Given the description of an element on the screen output the (x, y) to click on. 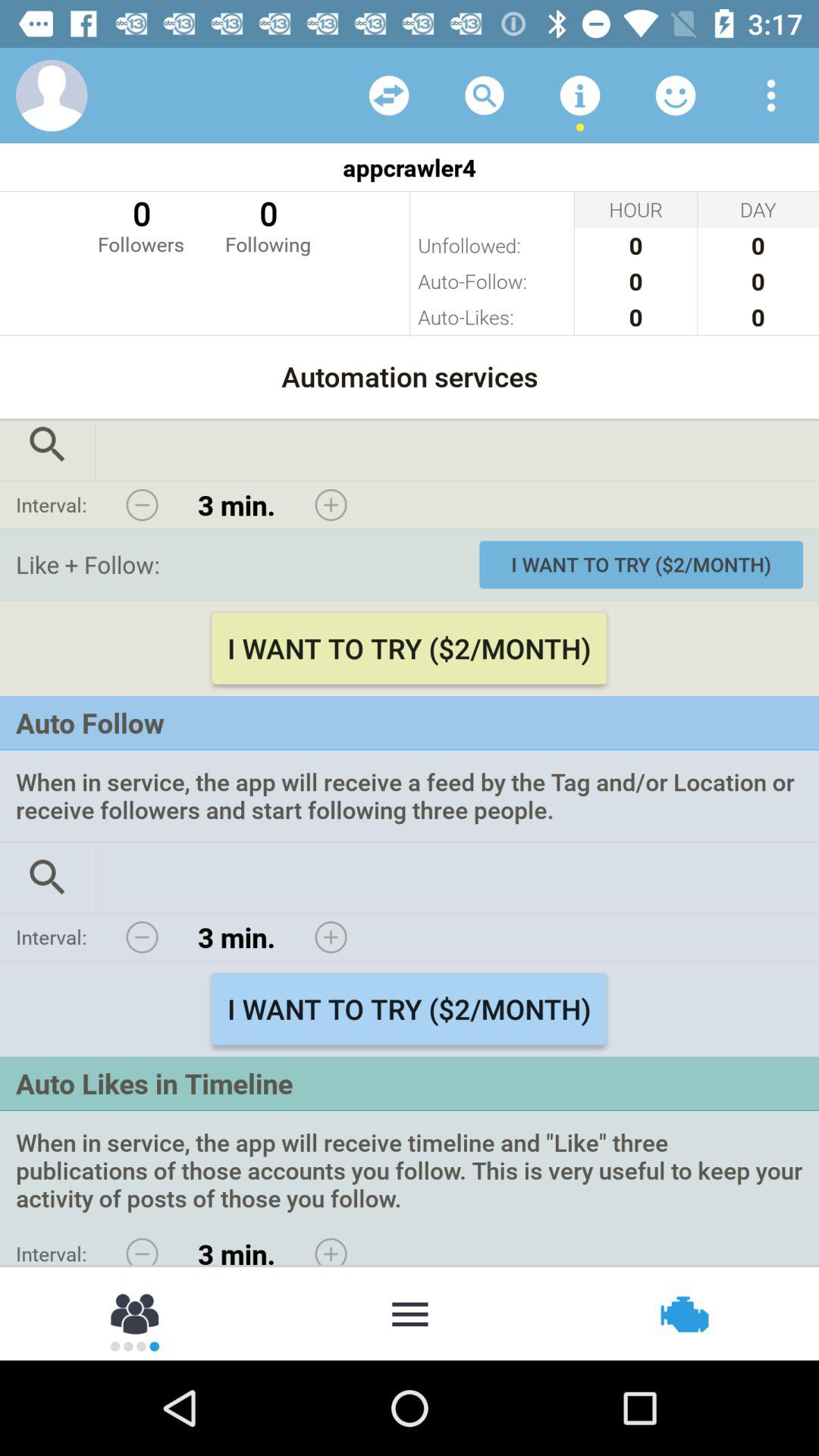
choose item to the left of 0
following (140, 224)
